Given the description of an element on the screen output the (x, y) to click on. 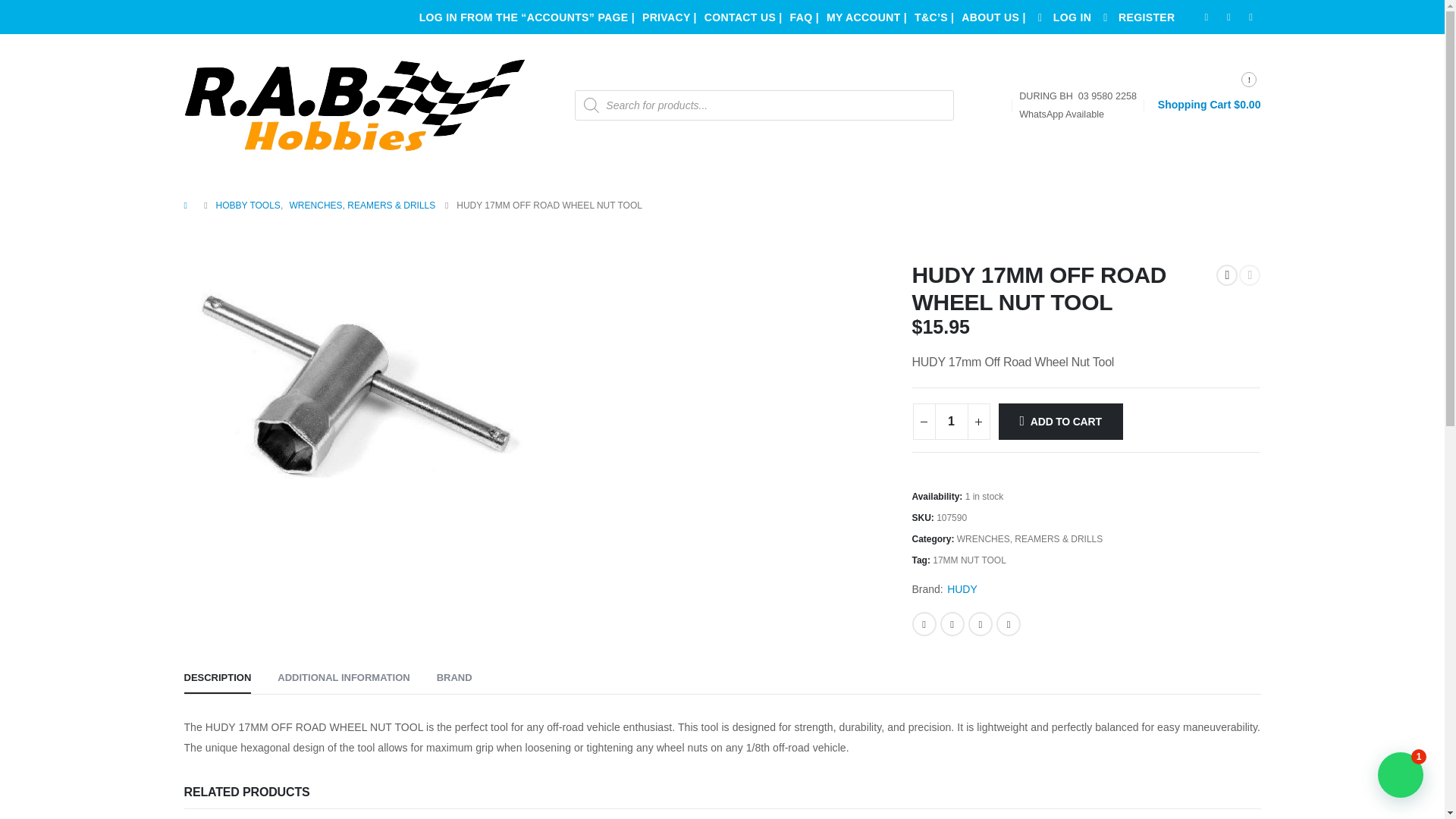
Pinterest (980, 623)
Youtube (1228, 17)
Facebook (923, 623)
B 107590 (357, 388)
View brand (961, 588)
LOG IN (1061, 16)
REGISTER (1135, 16)
17MM NUT TOOL (969, 560)
Email (1007, 623)
HOBBY TOOLS (247, 205)
Facebook (1205, 17)
1 (951, 421)
PayPal Message 1 (1085, 463)
Instagram (1250, 17)
ADD TO CART (1059, 421)
